Given the description of an element on the screen output the (x, y) to click on. 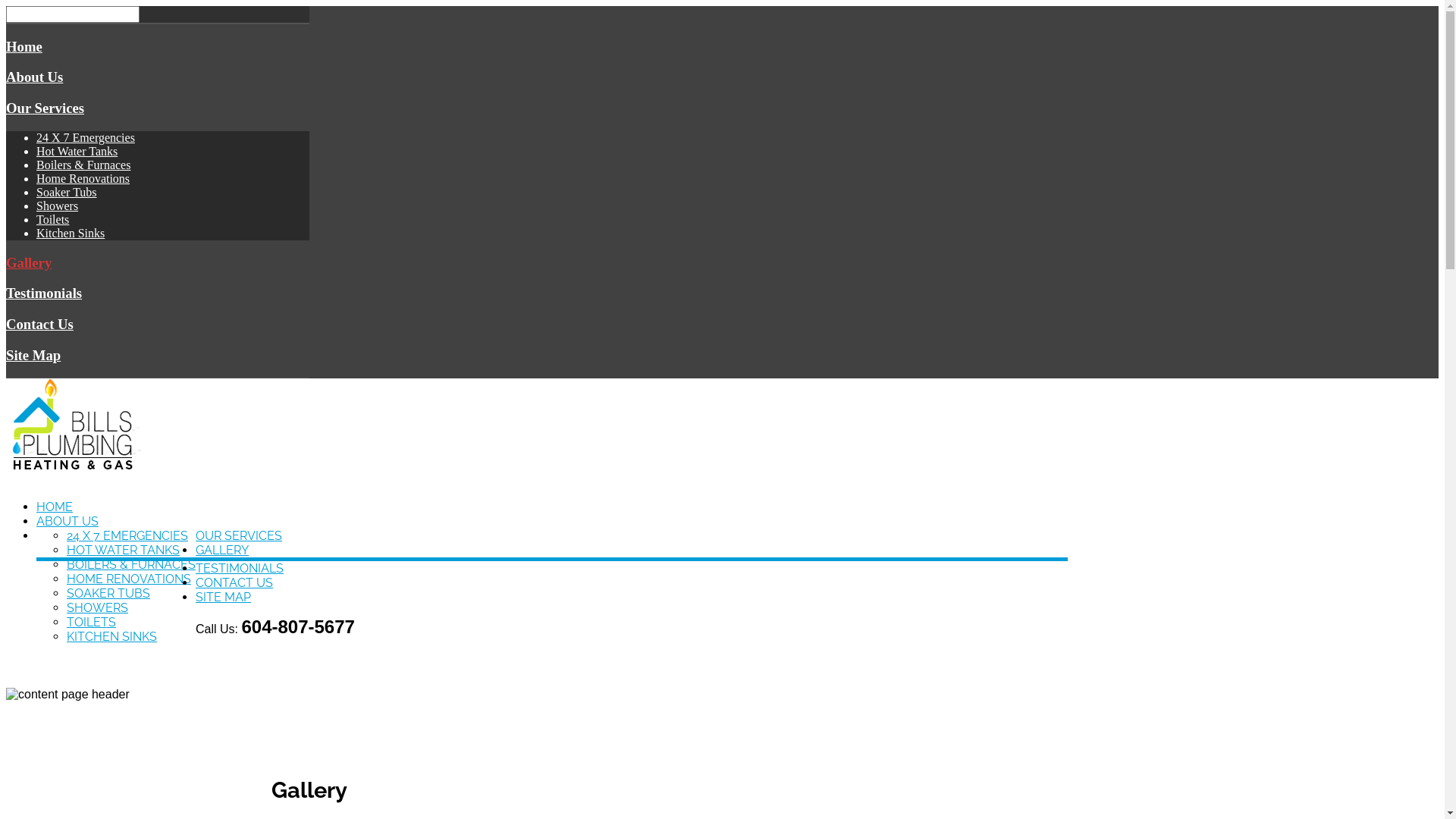
HOME Element type: text (54, 506)
CONTACT US Element type: text (234, 582)
TOILETS Element type: text (91, 622)
Contact Us Element type: text (39, 324)
HOT WATER TANKS Element type: text (122, 549)
Testimonials Element type: text (43, 293)
OUR SERVICES Element type: text (238, 535)
Gallery Element type: text (28, 262)
Our Services Element type: text (157, 108)
Kitchen Sinks Element type: text (70, 232)
GALLERY Element type: text (221, 549)
Soaker Tubs Element type: text (66, 191)
SHOWERS Element type: text (97, 607)
Our Services Element type: text (45, 108)
Showers Element type: text (57, 205)
HOME RENOVATIONS Element type: text (128, 578)
Boilers & Furnaces Element type: text (83, 164)
KITCHEN SINKS Element type: text (111, 636)
Toilets Element type: text (52, 219)
BOILERS & FURNACES Element type: text (130, 564)
TESTIMONIALS Element type: text (239, 568)
ABOUT US Element type: text (67, 521)
Hot Water Tanks Element type: text (76, 150)
24 X 7 Emergencies Element type: text (85, 137)
SOAKER TUBS Element type: text (108, 593)
24 X 7 EMERGENCIES Element type: text (127, 535)
About Us Element type: text (34, 76)
SITE MAP Element type: text (223, 596)
Home Element type: text (24, 46)
Site Map Element type: text (33, 355)
Home Renovations Element type: text (82, 178)
